Given the description of an element on the screen output the (x, y) to click on. 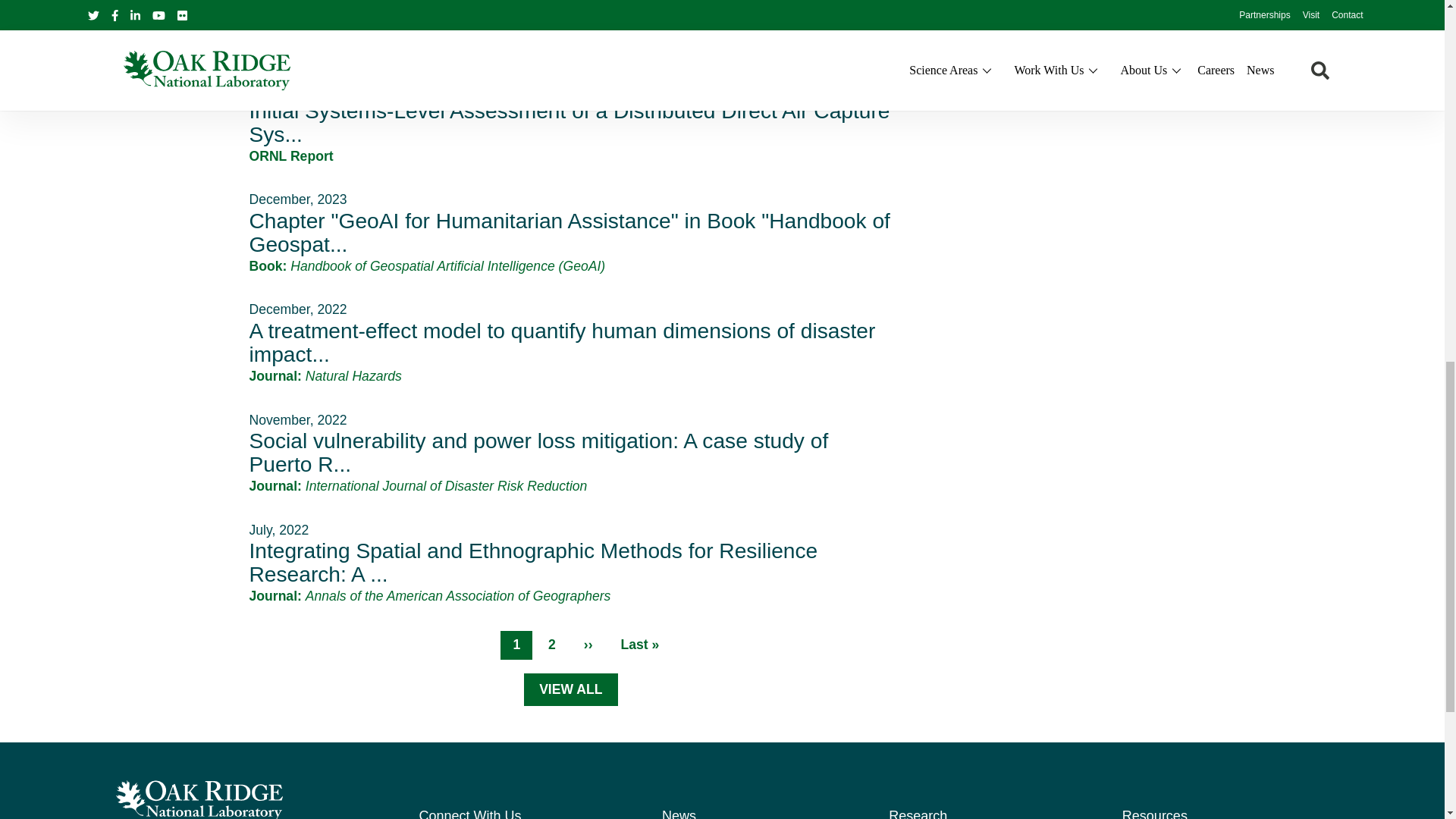
Go to last page (639, 645)
